Given the description of an element on the screen output the (x, y) to click on. 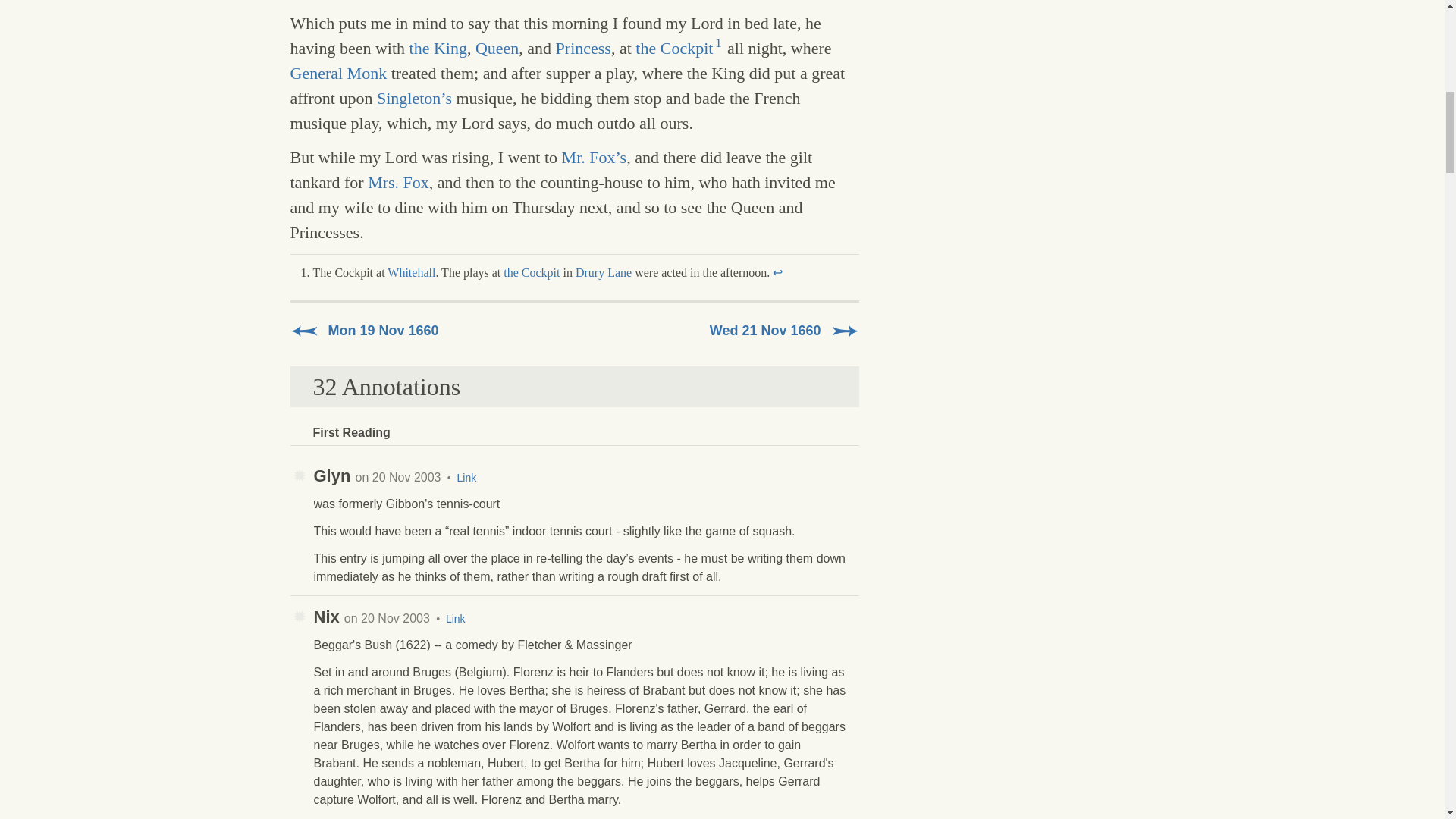
the King (438, 47)
